Given the description of an element on the screen output the (x, y) to click on. 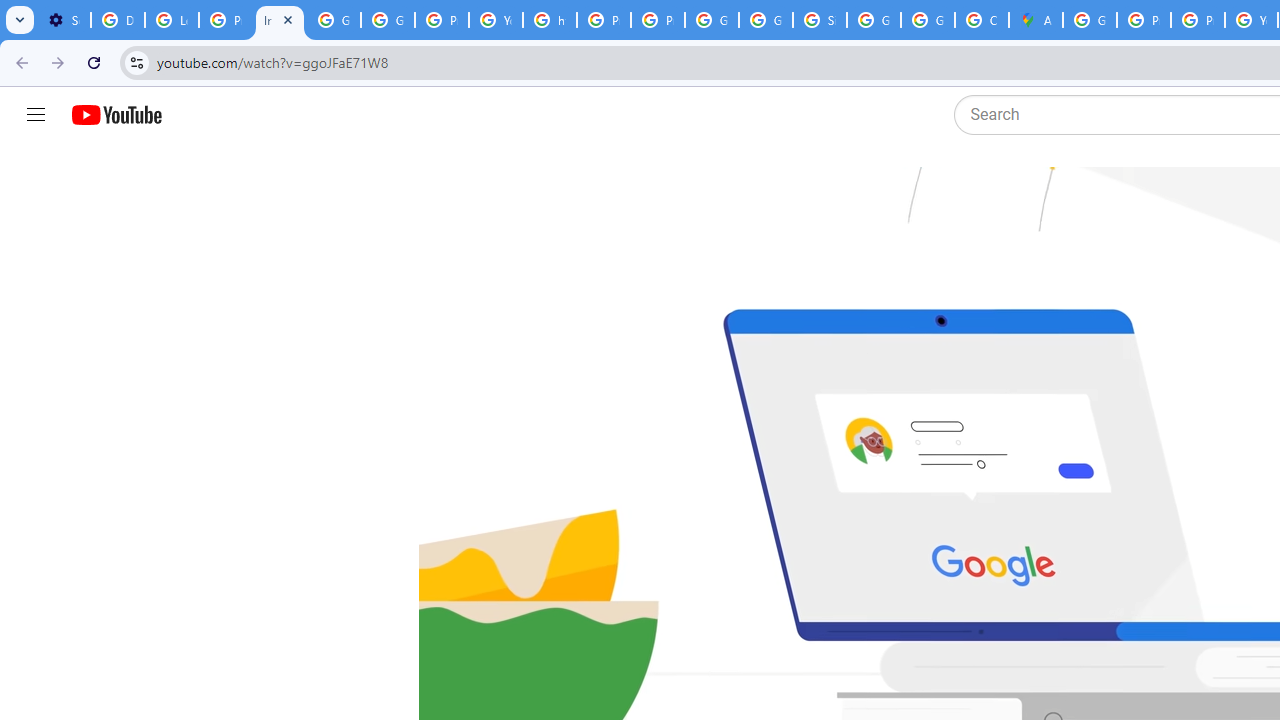
Settings - Performance (63, 20)
Privacy Help Center - Policies Help (604, 20)
Privacy Help Center - Policies Help (1197, 20)
Sign in - Google Accounts (819, 20)
Privacy Help Center - Policies Help (1144, 20)
Create your Google Account (981, 20)
YouTube Home (116, 115)
